Given the description of an element on the screen output the (x, y) to click on. 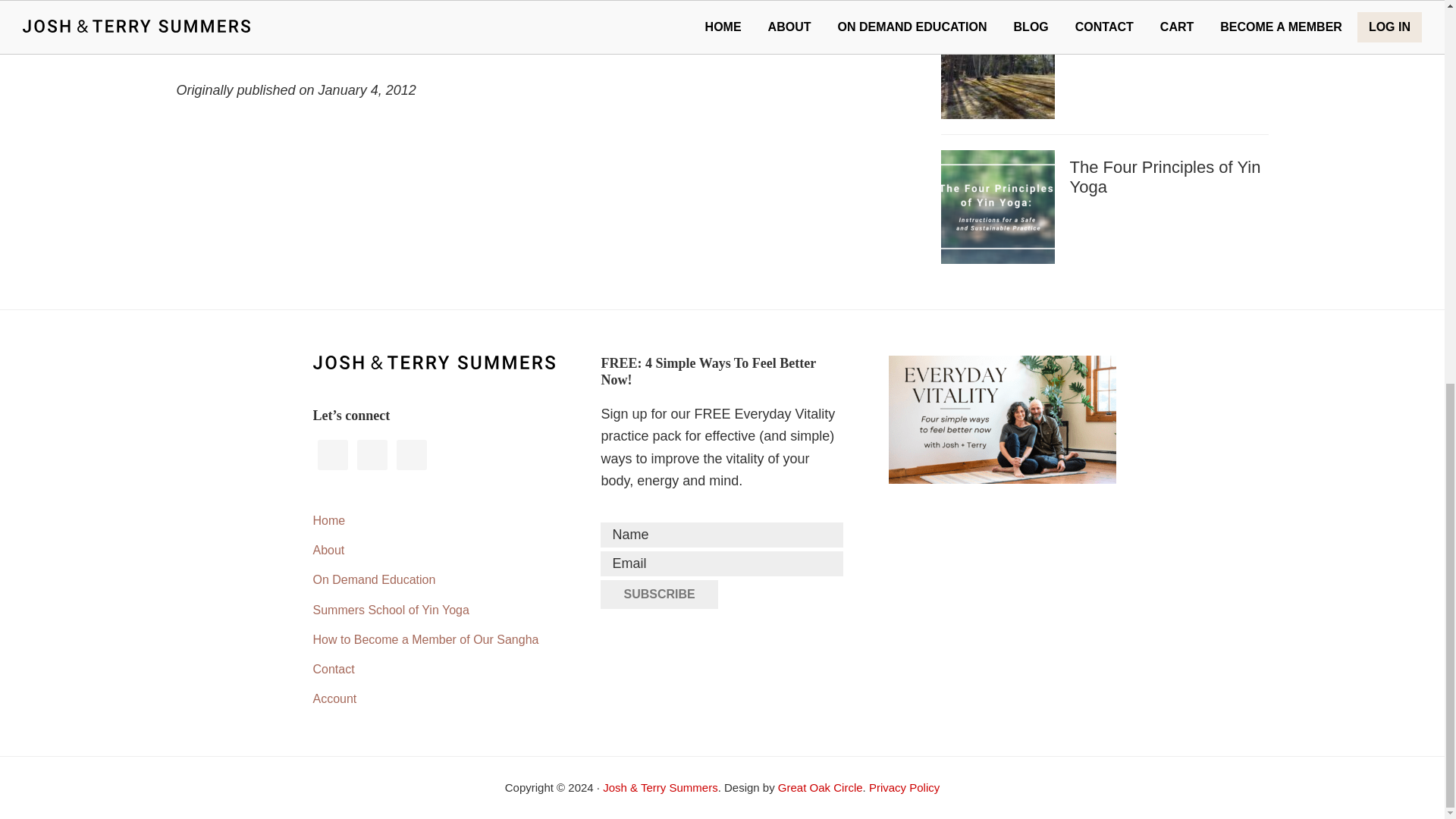
The Perfection of Resolve. (641, 5)
Subscribe (658, 594)
